Given the description of an element on the screen output the (x, y) to click on. 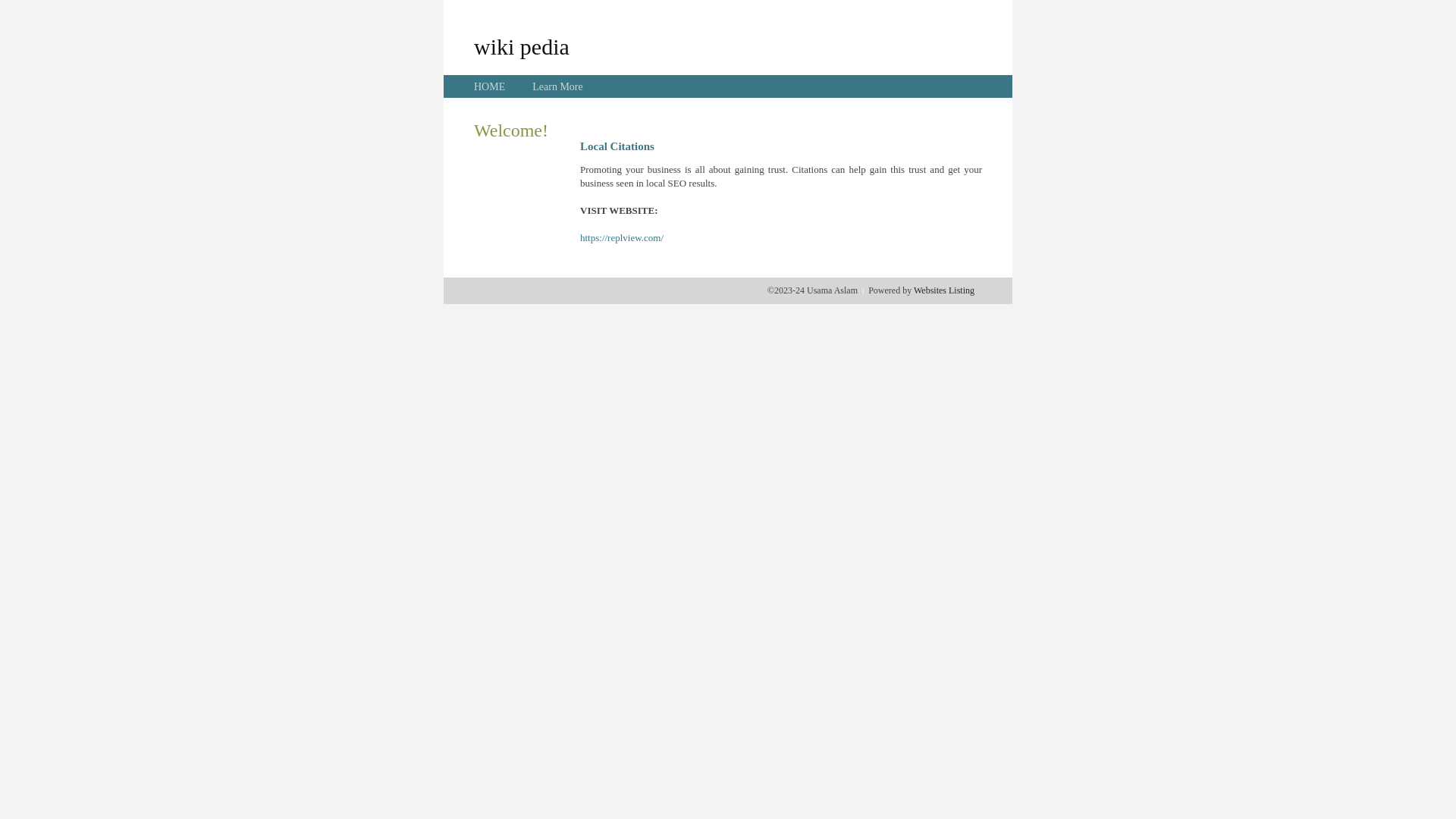
https://replview.com/ Element type: text (621, 237)
HOME Element type: text (489, 86)
Websites Listing Element type: text (943, 290)
wiki pedia Element type: text (521, 46)
Learn More Element type: text (557, 86)
